Given the description of an element on the screen output the (x, y) to click on. 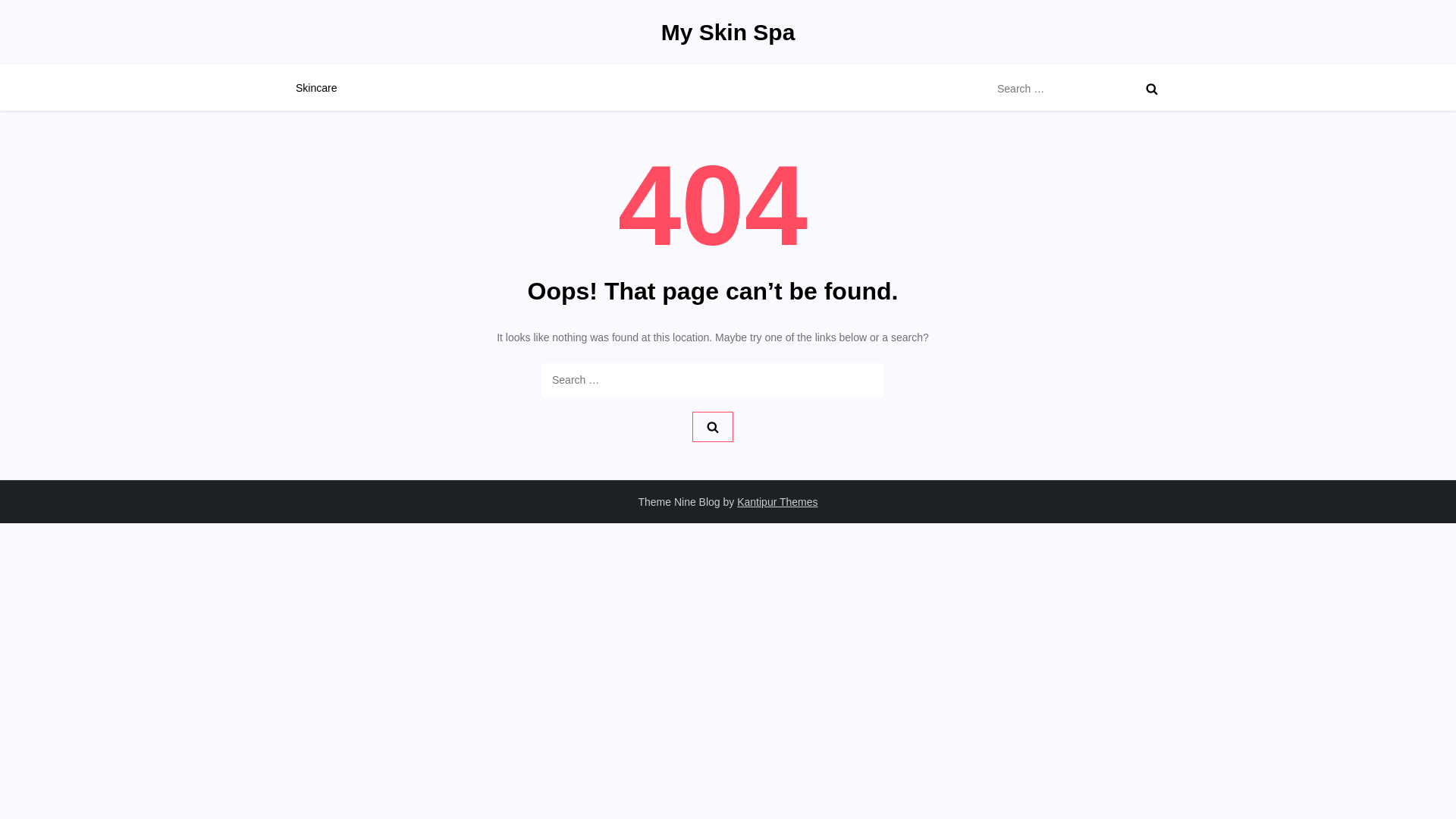
My Skin Spa (727, 32)
Kantipur Themes (776, 501)
Search (713, 426)
Skincare (315, 87)
